Given the description of an element on the screen output the (x, y) to click on. 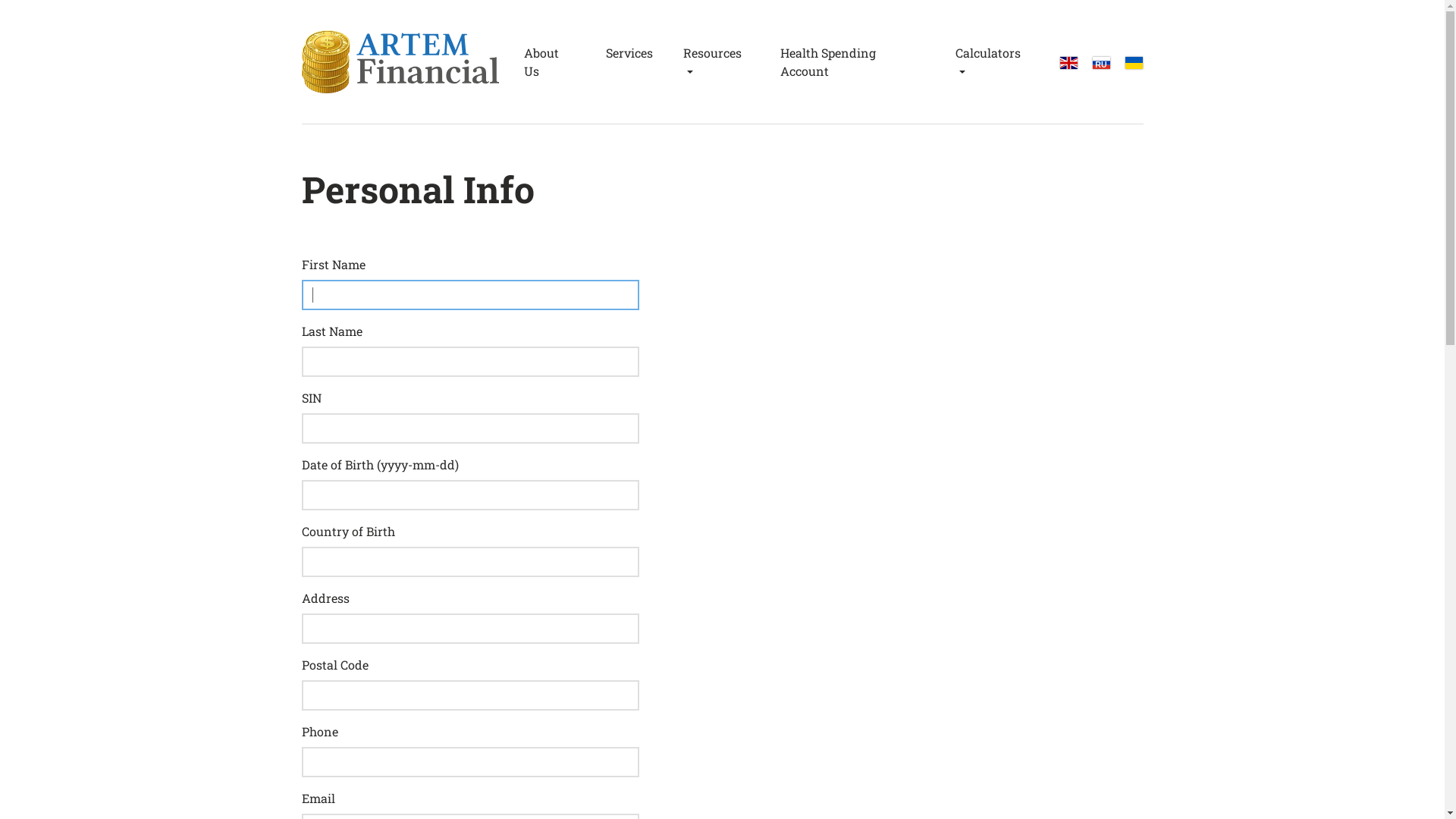
Artem Financial Element type: hover (399, 61)
Health Spending Account Element type: text (852, 61)
Switch language to English (Canada) Element type: hover (1068, 62)
Mrs. Olga Vasylenko Element type: hover (1133, 62)
Services Element type: text (628, 52)
Resources Element type: text (716, 61)
About Us Element type: text (549, 61)
